Given the description of an element on the screen output the (x, y) to click on. 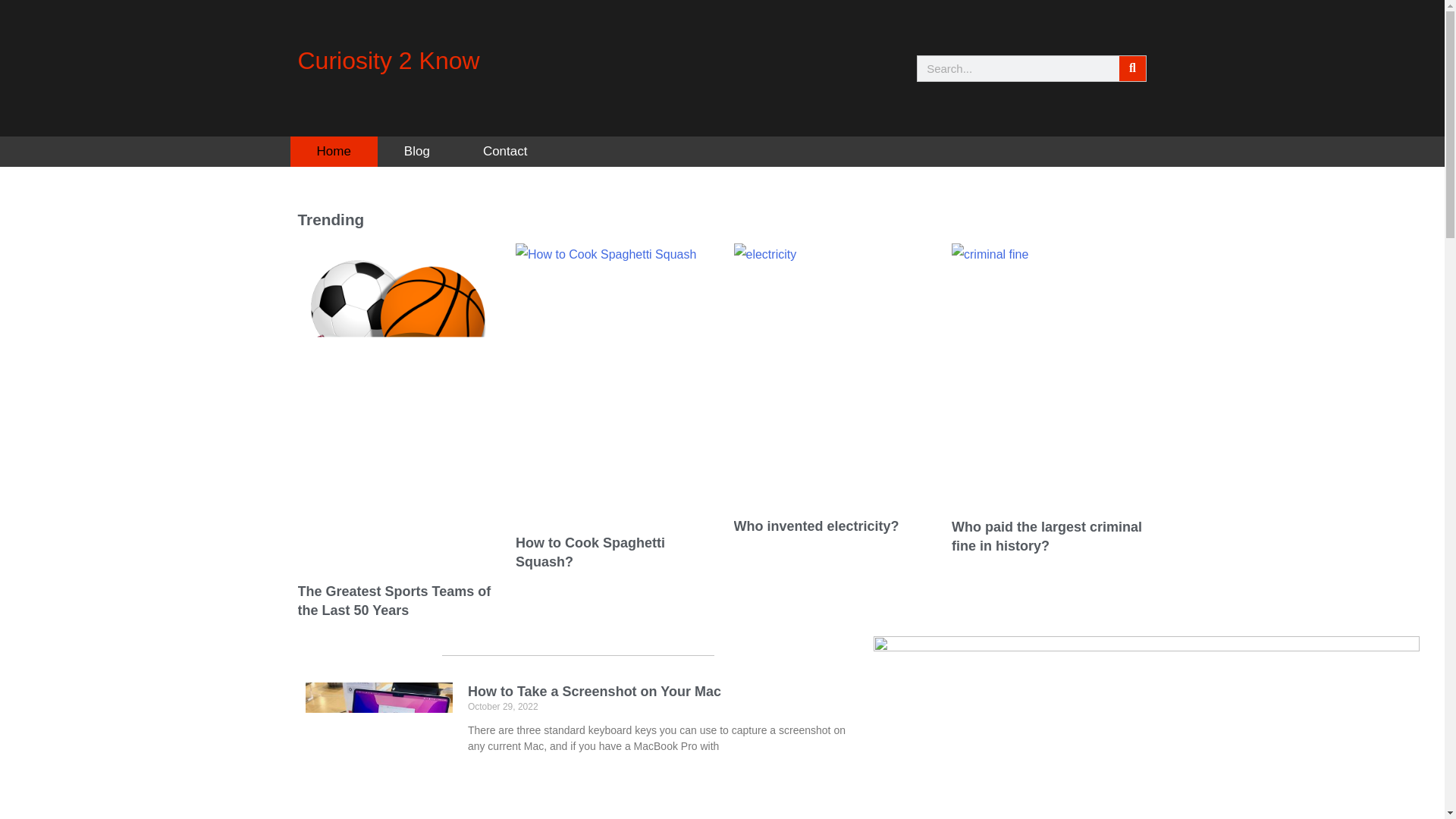
Who invented electricity? (816, 525)
Contact (505, 151)
Home (333, 151)
Curiosity 2 Know (388, 60)
How to Cook Spaghetti Squash? (590, 552)
The Greatest Sports Teams of the Last 50 Years (393, 600)
How to Take a Screenshot on Your Mac (593, 691)
Blog (417, 151)
Who paid the largest criminal fine in history? (1046, 536)
